Given the description of an element on the screen output the (x, y) to click on. 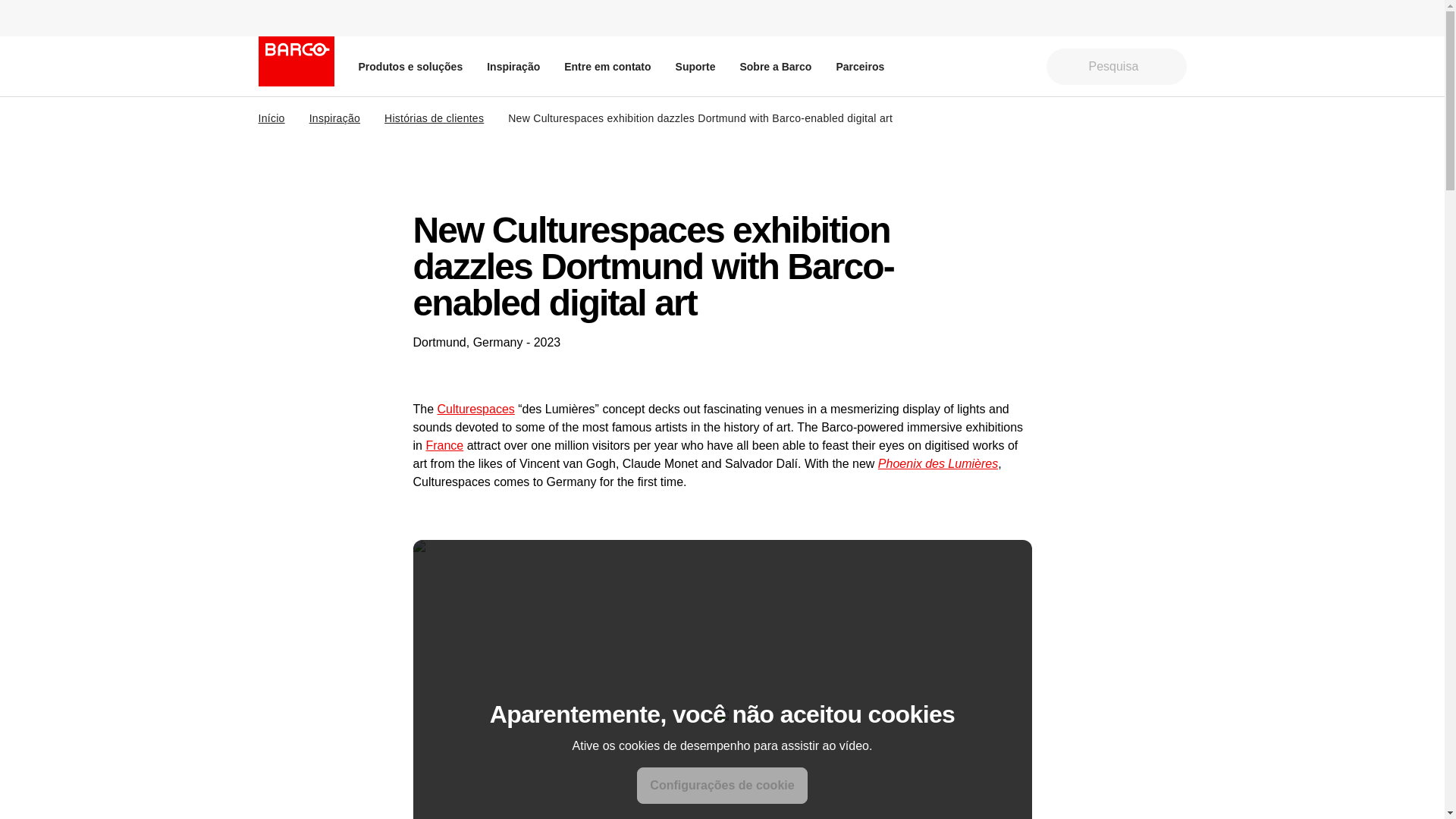
Entre em contato (607, 66)
Sobre a Barco (774, 66)
